Given the description of an element on the screen output the (x, y) to click on. 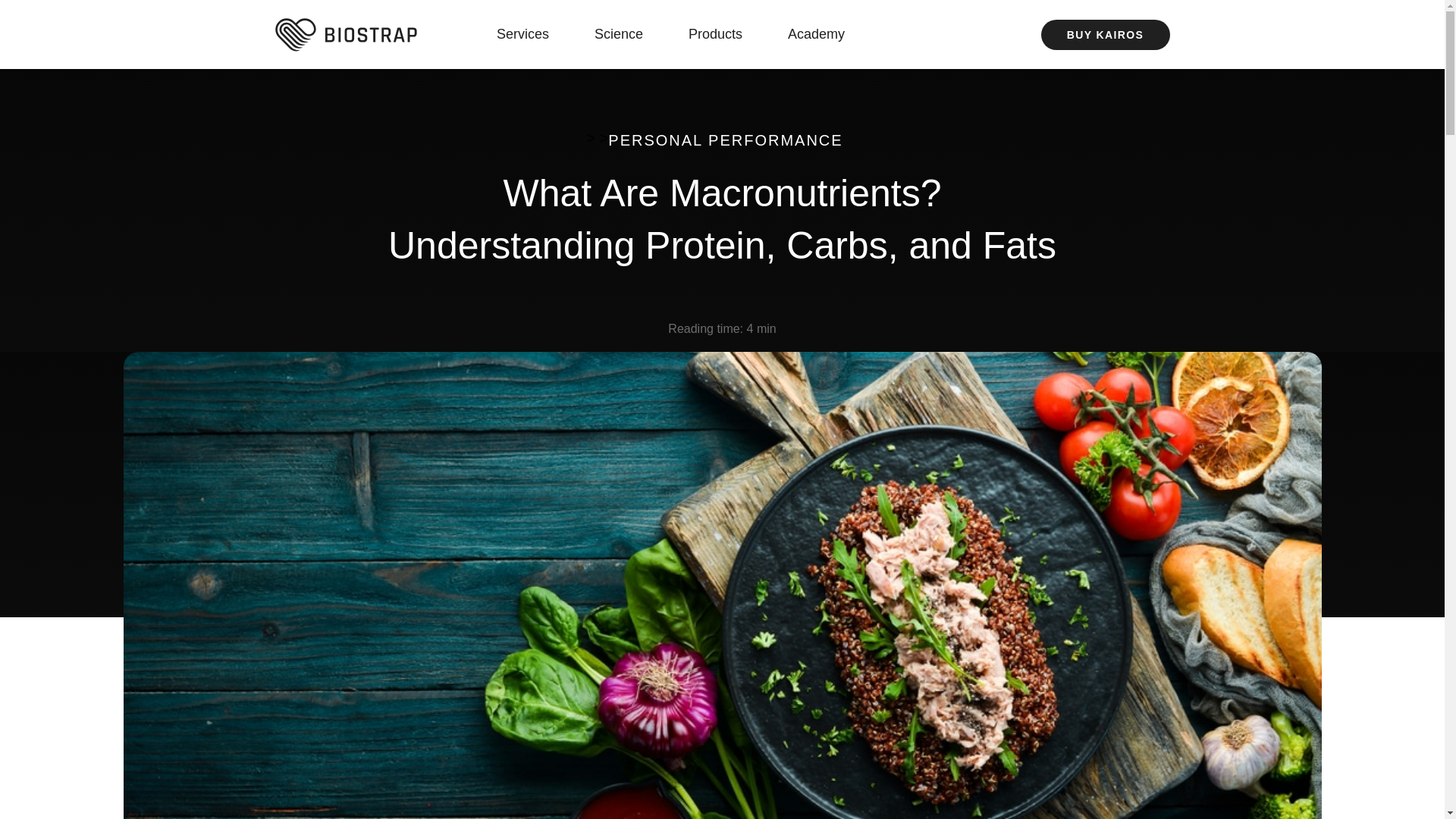
Services (530, 34)
Academy (823, 34)
Products (722, 34)
BUY KAIROS (1105, 34)
Science (626, 34)
